Given the description of an element on the screen output the (x, y) to click on. 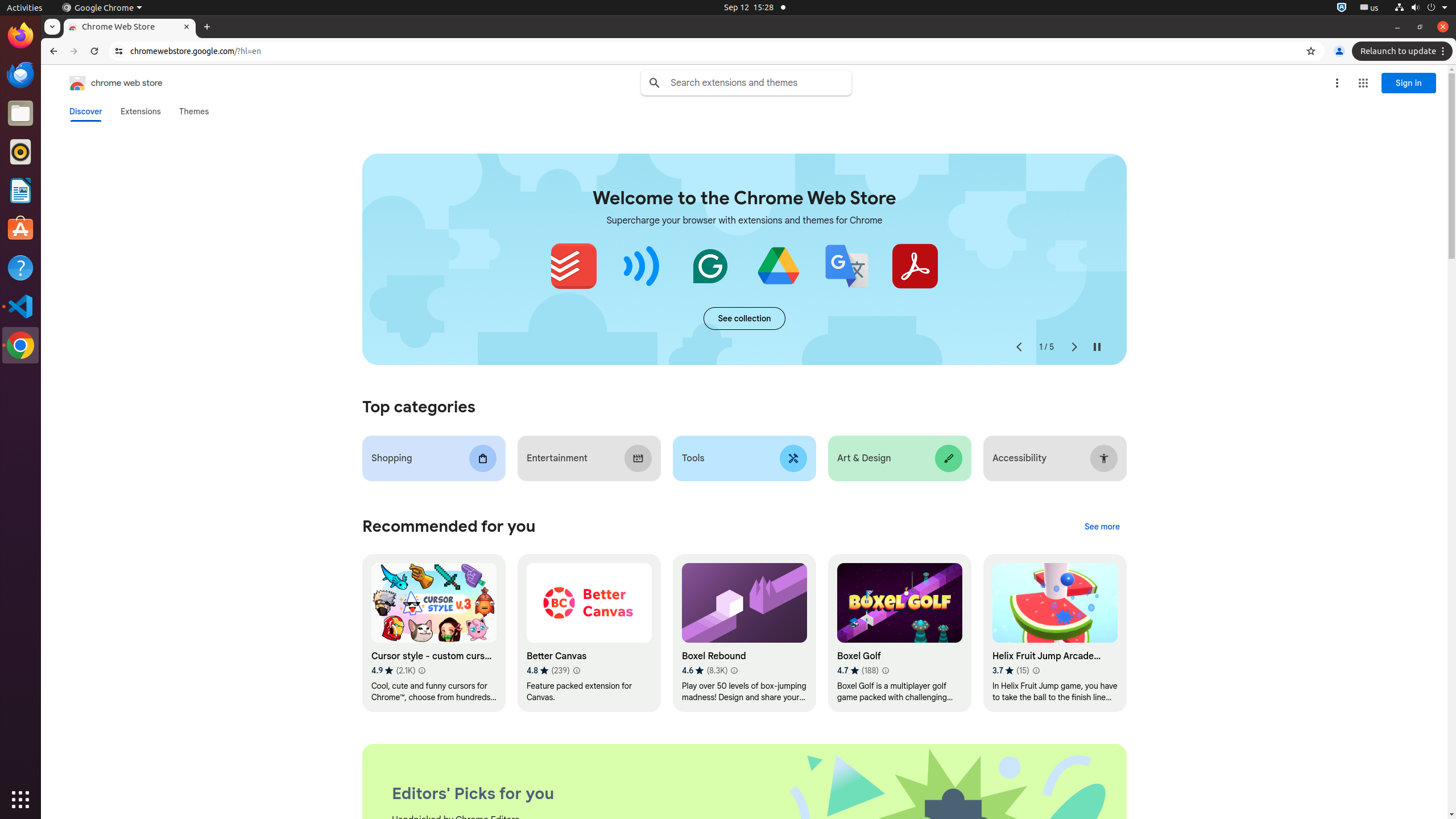
Help Element type: push-button (20, 267)
Boxel Rebound Element type: link (744, 632)
Better Canvas Element type: link (588, 632)
Volume Master Element type: link (641, 266)
Google apps Element type: push-button (1362, 82)
